Given the description of an element on the screen output the (x, y) to click on. 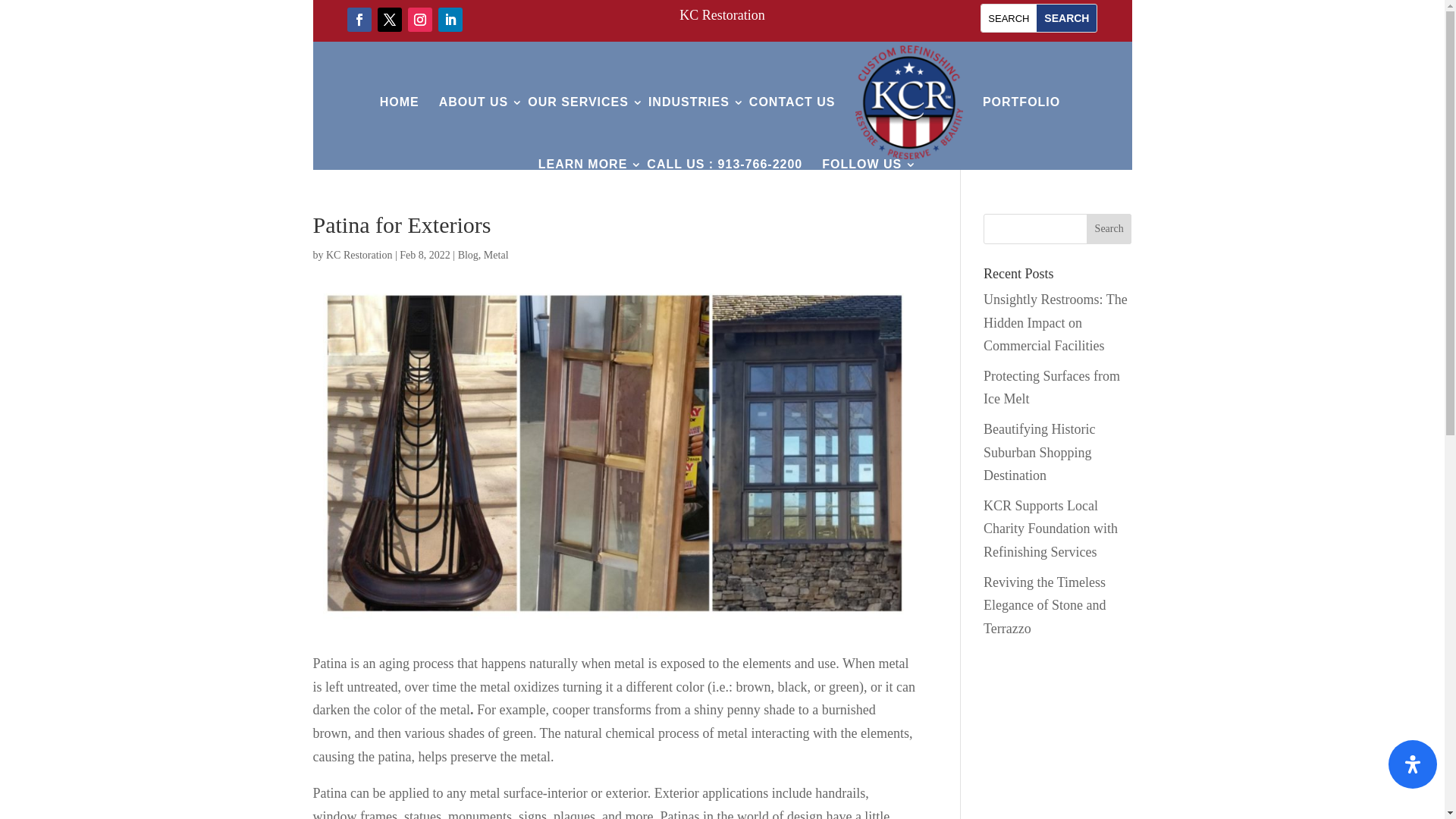
Follow on Facebook (359, 19)
Search (1109, 228)
Posts by KC Restoration (359, 255)
LEARN MORE (582, 163)
CONTACT US (792, 101)
Follow on Instagram (419, 19)
HOME (399, 101)
Follow on X (389, 19)
PORTFOLIO (1021, 101)
INDUSTRIES (689, 101)
OUR SERVICES (577, 101)
FOLLOW US (861, 163)
Search (1066, 17)
Follow on LinkedIn (450, 19)
Accessibility (1413, 764)
